Given the description of an element on the screen output the (x, y) to click on. 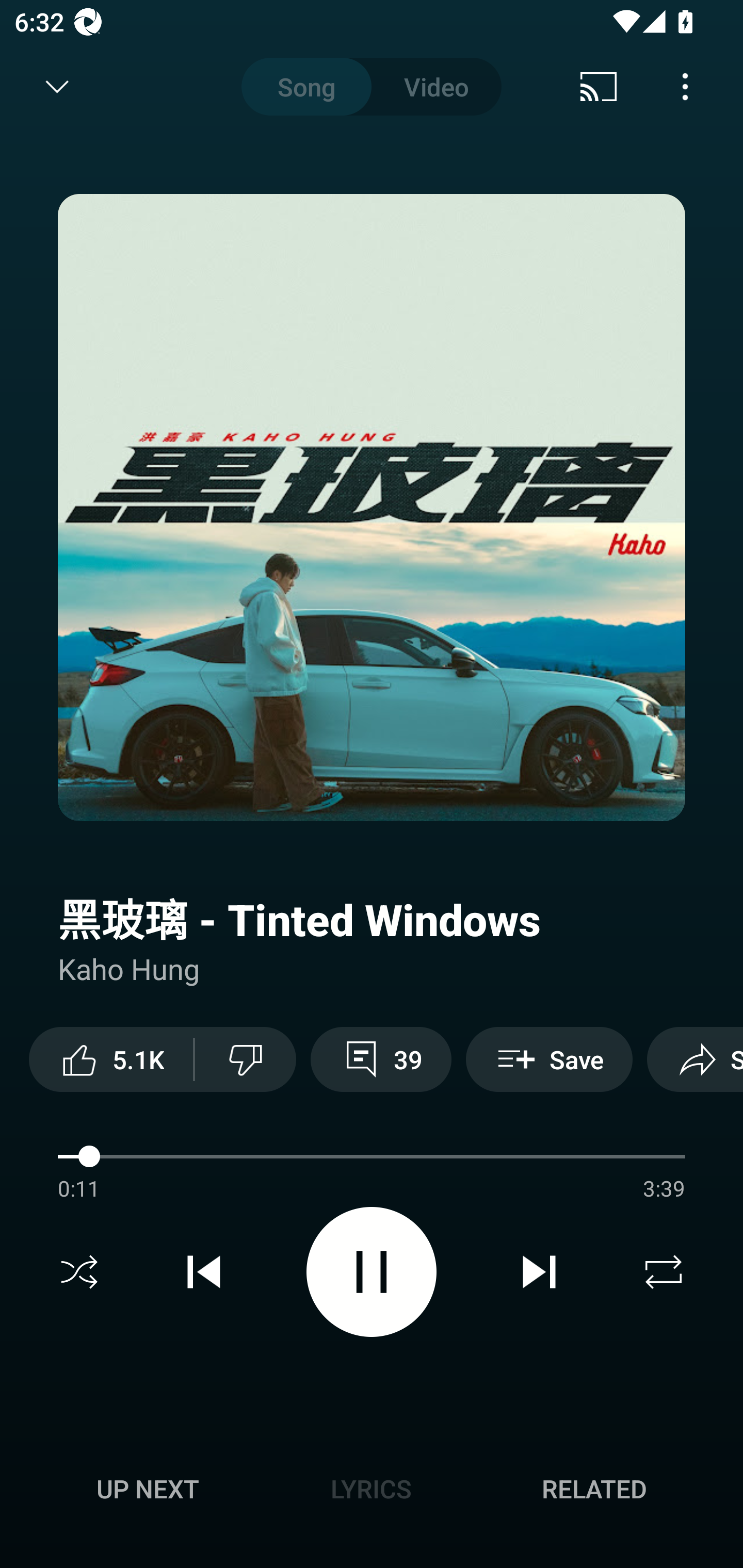
Minimize (57, 86)
Cast. Disconnected (598, 86)
Menu (684, 86)
5.1K like this video along with 5,122 other people (110, 1059)
Dislike (245, 1059)
39 View 39 comments (380, 1059)
Save Save to playlist (548, 1059)
Share (695, 1059)
Pause video (371, 1272)
Shuffle off (79, 1272)
Previous track (203, 1272)
Next track (538, 1272)
Repeat off (663, 1272)
Up next UP NEXT Lyrics LYRICS Related RELATED (371, 1491)
Lyrics LYRICS (370, 1488)
Related RELATED (594, 1488)
